Given the description of an element on the screen output the (x, y) to click on. 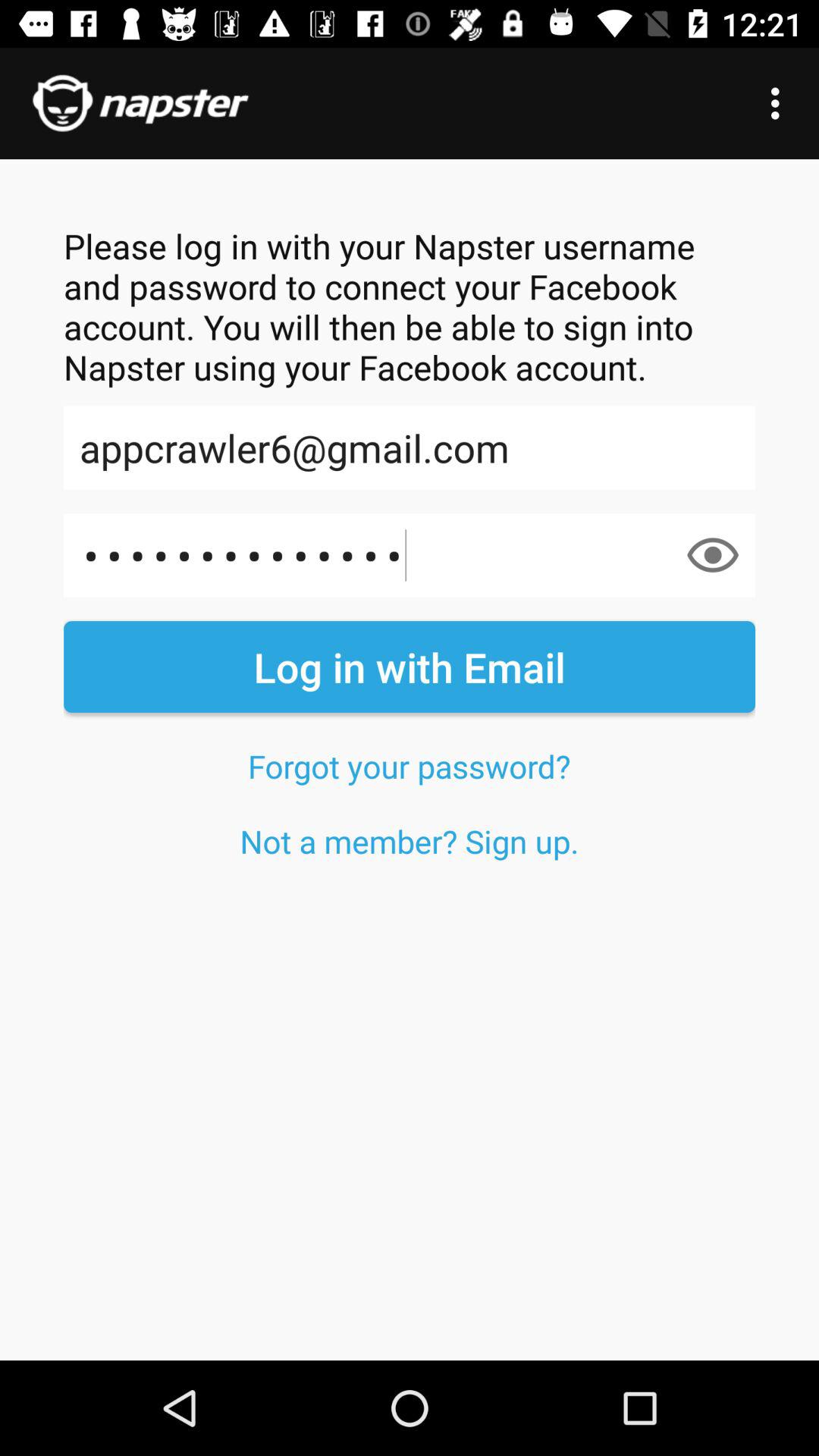
choose icon below the please log in (409, 447)
